Given the description of an element on the screen output the (x, y) to click on. 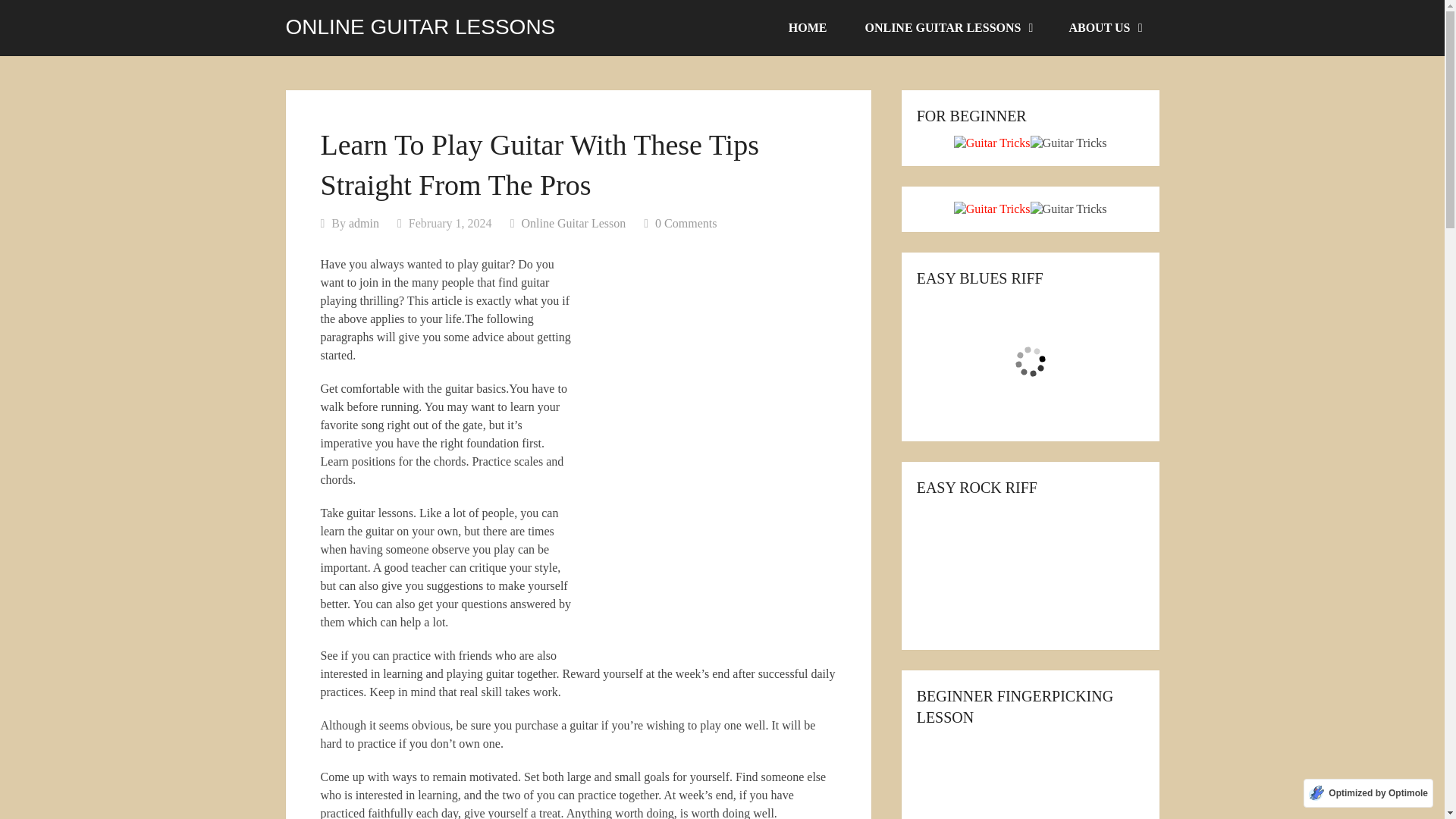
Guitar Tricks (991, 142)
admin (363, 223)
Posts by admin (363, 223)
Online Guitar Lesson (573, 223)
ONLINE GUITAR LESSONS (947, 28)
ABOUT US (1103, 28)
ONLINE GUITAR LESSONS (419, 26)
0 Comments (685, 223)
Guitar Tricks (991, 209)
HOME (807, 28)
